Given the description of an element on the screen output the (x, y) to click on. 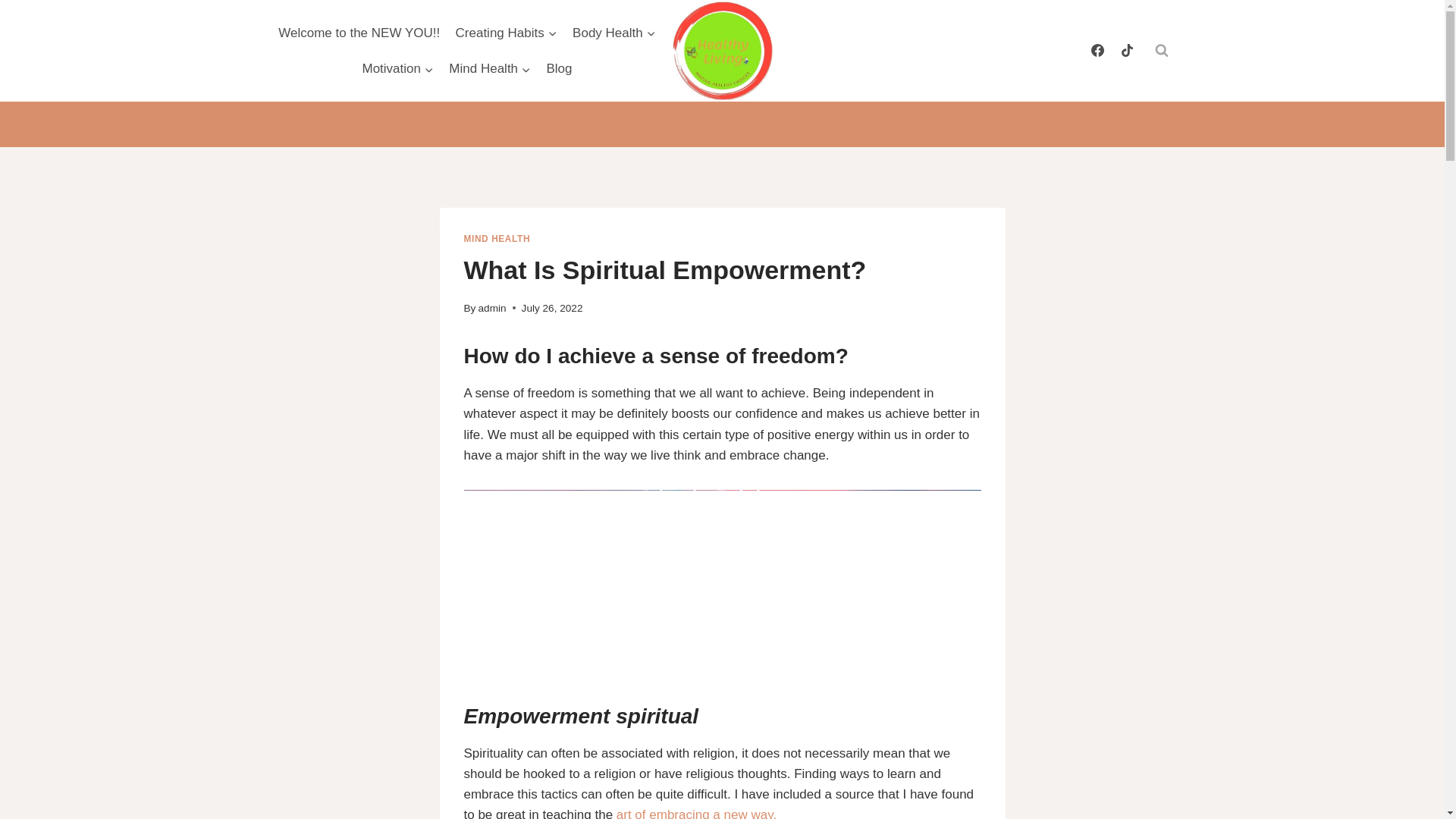
Creating Habits (505, 32)
Empowerment spiritual (581, 715)
admin (492, 307)
Welcome to the NEW YOU!! (358, 32)
Motivation (397, 68)
Mind Health (489, 68)
Body Health (613, 32)
art of embracing a new way. (695, 813)
Blog (558, 68)
MIND HEALTH (497, 238)
